Given the description of an element on the screen output the (x, y) to click on. 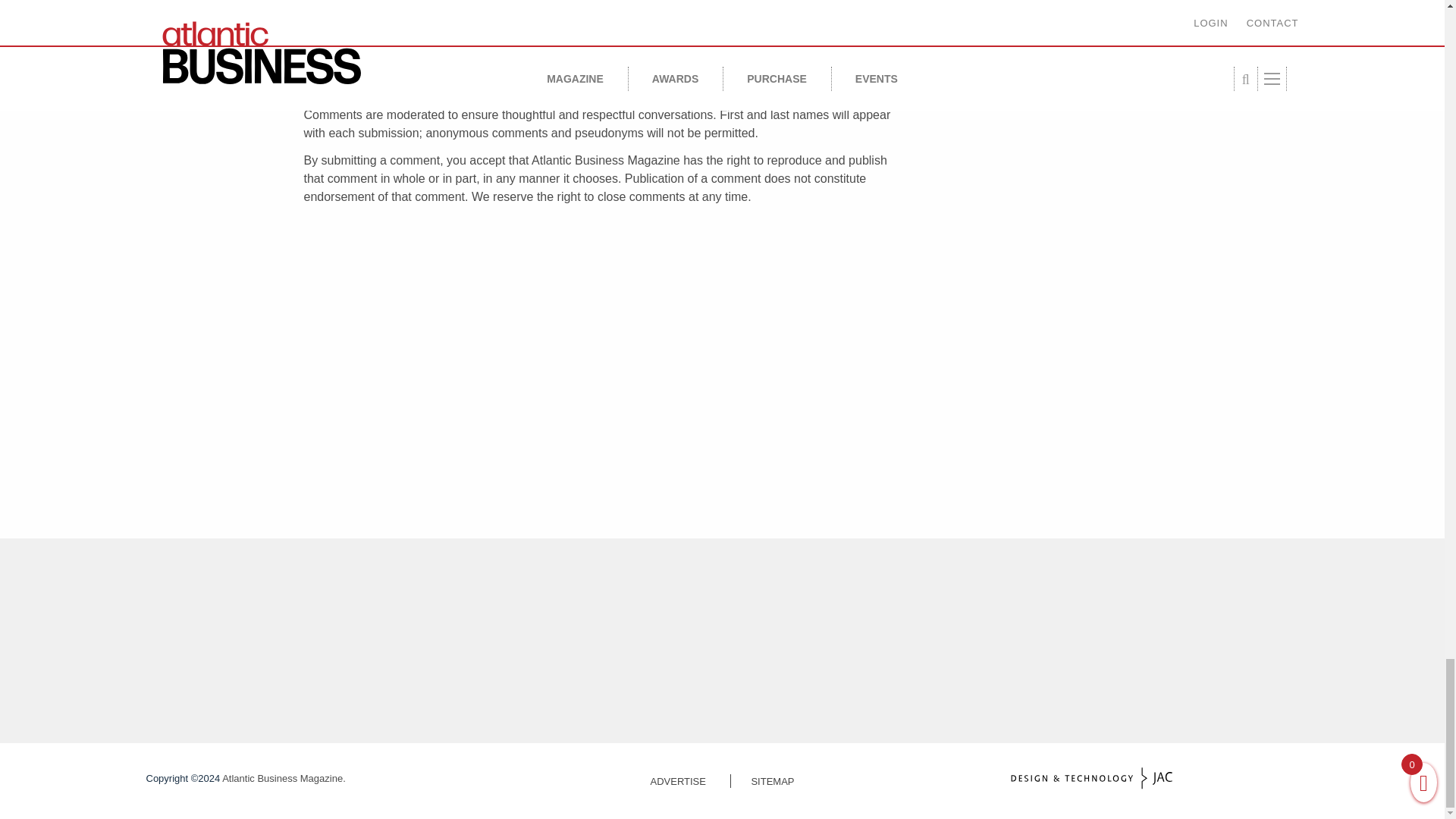
JAC. We Create. (1091, 778)
